Given the description of an element on the screen output the (x, y) to click on. 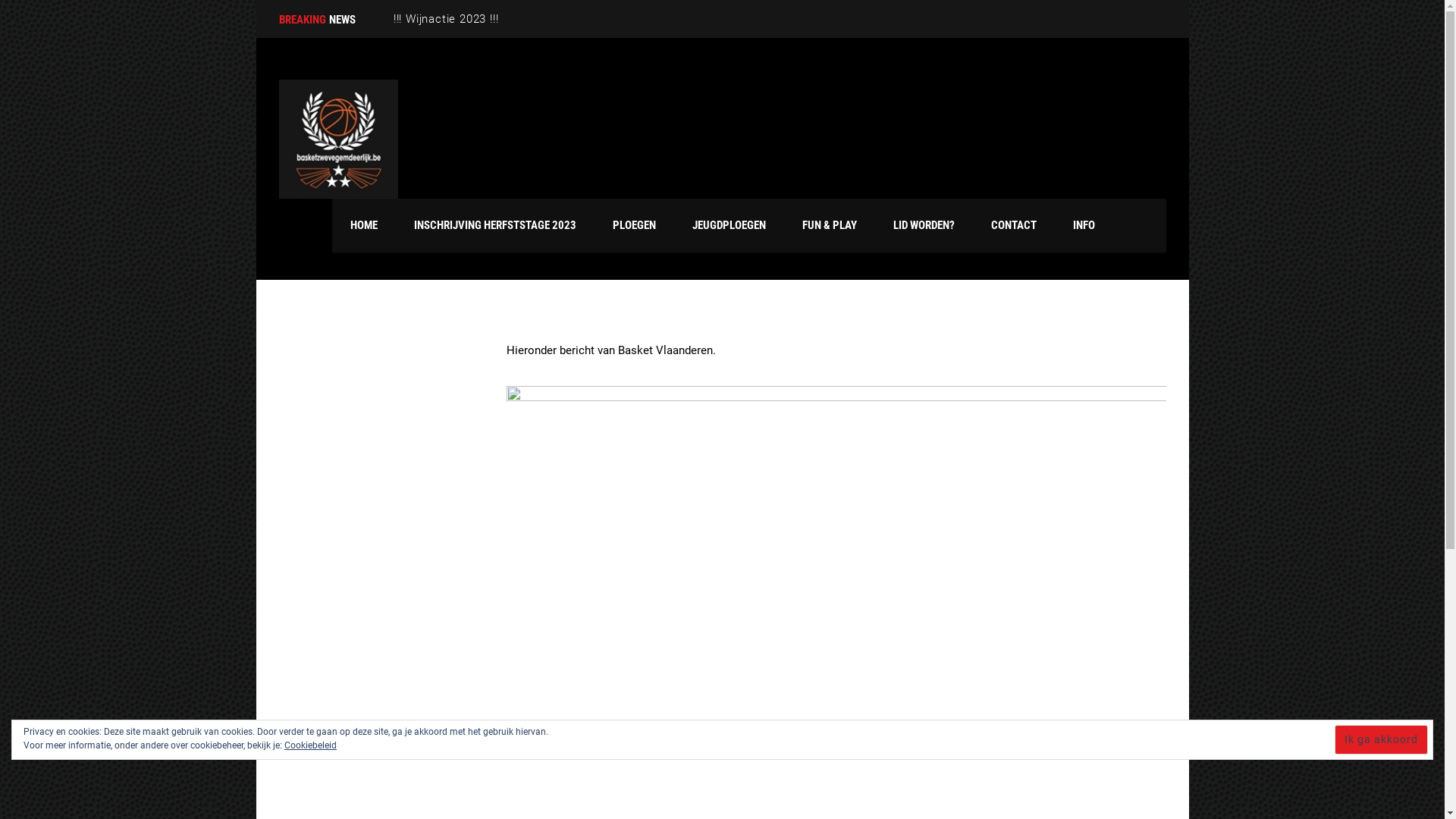
PLOEGEN Element type: text (634, 224)
NIEUWS Element type: text (313, 626)
Cookiebeleid Element type: text (310, 745)
Ik ga akkoord Element type: text (1380, 739)
PRIVACY (GDPR) Element type: text (333, 677)
INFO Element type: text (1083, 224)
LID WORDEN? Element type: text (923, 224)
COACHES Element type: text (317, 600)
FUN & PLAY Element type: text (829, 224)
!!! Wijnactie 2023 !!! Element type: text (599, 541)
Home Element type: hover (338, 138)
Fotoshoot met de ONE Element type: text (599, 601)
JEUGDPLOEGEN Element type: text (728, 224)
INSCHRIJVING HERFSTSTAGE 2023 Element type: text (494, 224)
HOME Element type: text (363, 224)
CONTACT Element type: text (1013, 224)
info@basketzwevegemdeerlijk.be Element type: text (830, 577)
PLOEGEN SEIZOEN 2023-2024 U8 tem U18 Element type: text (599, 667)
